Given the description of an element on the screen output the (x, y) to click on. 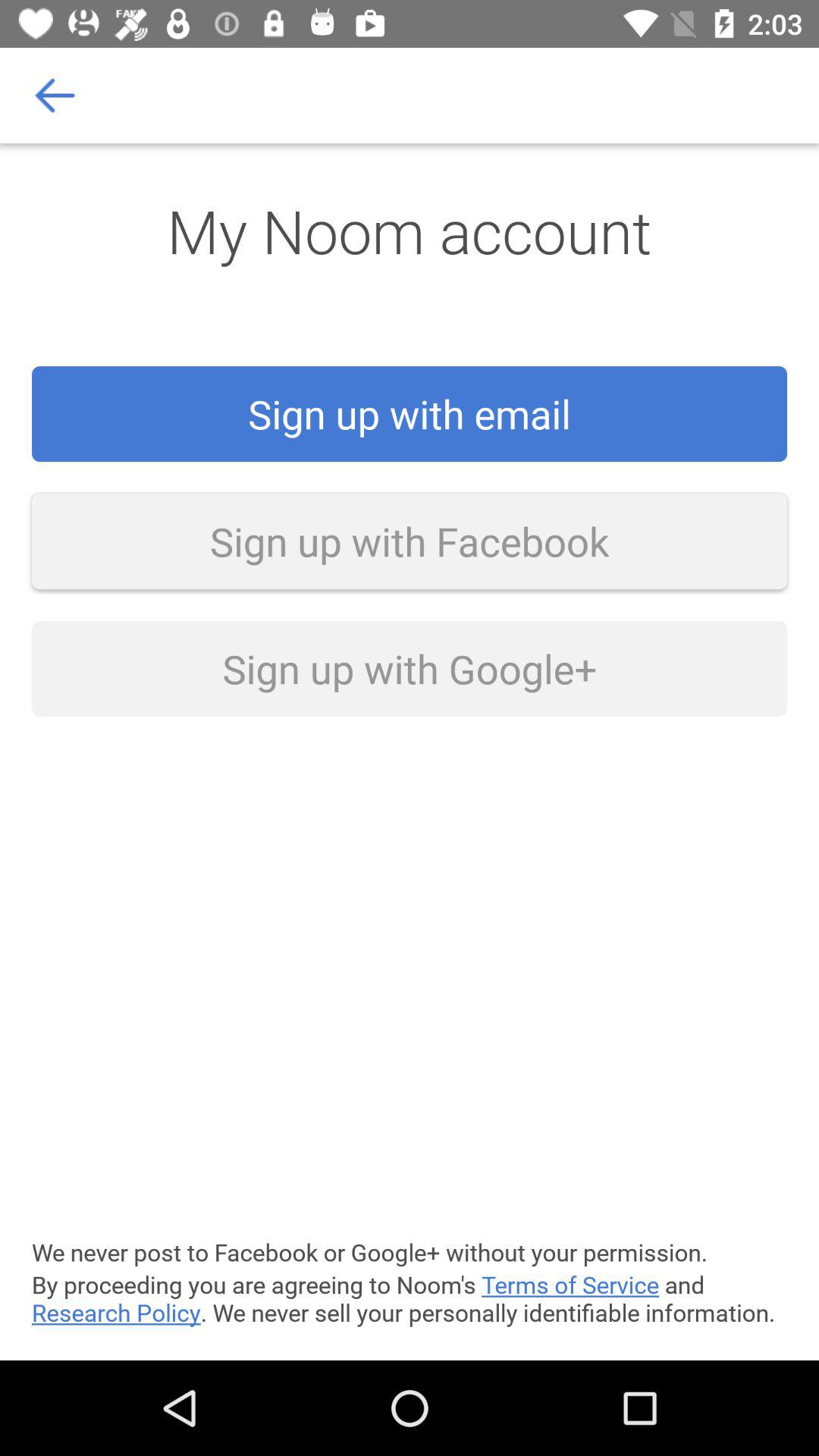
tap the item at the top left corner (55, 95)
